Given the description of an element on the screen output the (x, y) to click on. 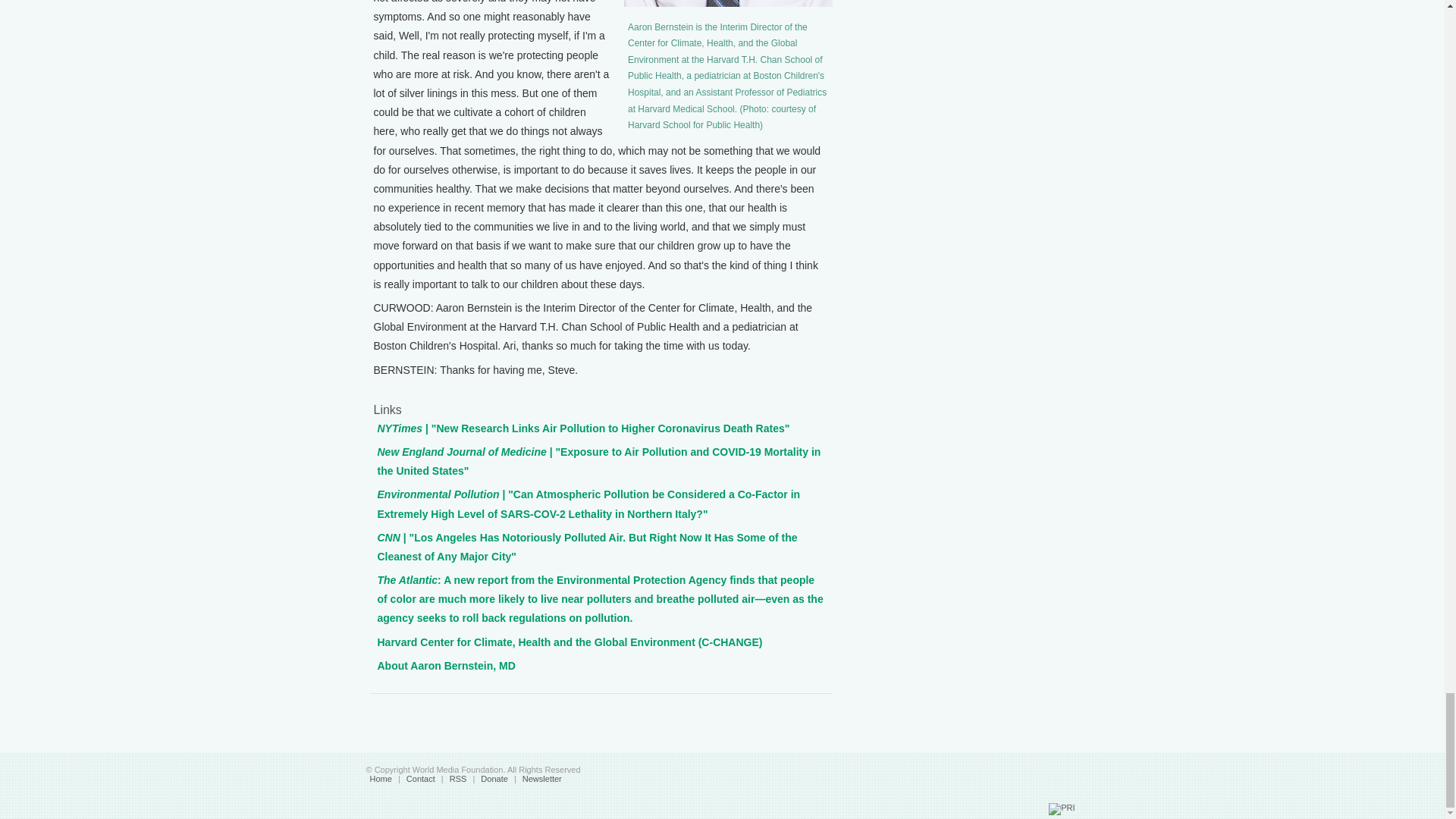
About Aaron Bernstein, MD (446, 665)
